Given the description of an element on the screen output the (x, y) to click on. 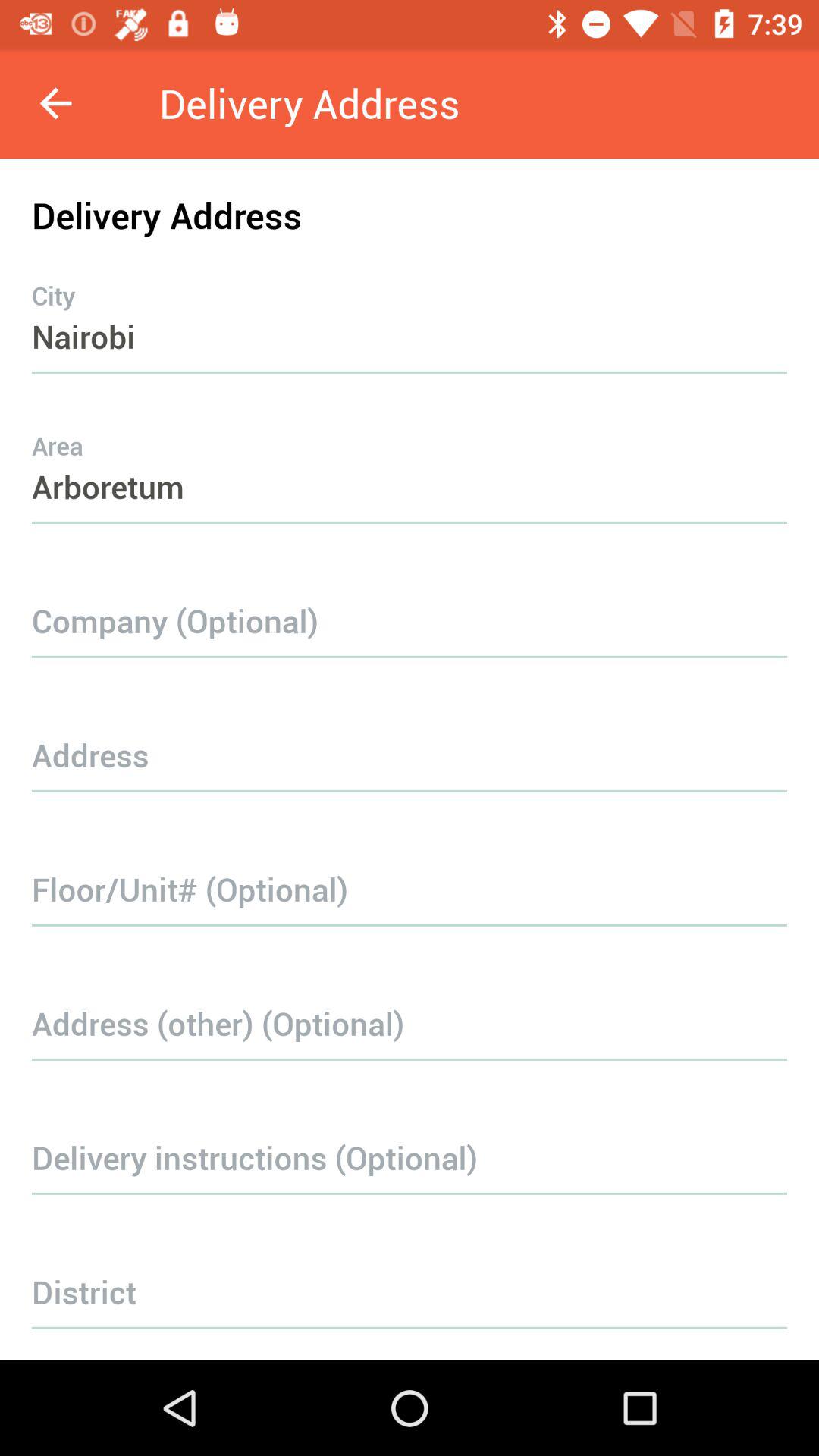
tap item below the nairobi item (409, 456)
